Given the description of an element on the screen output the (x, y) to click on. 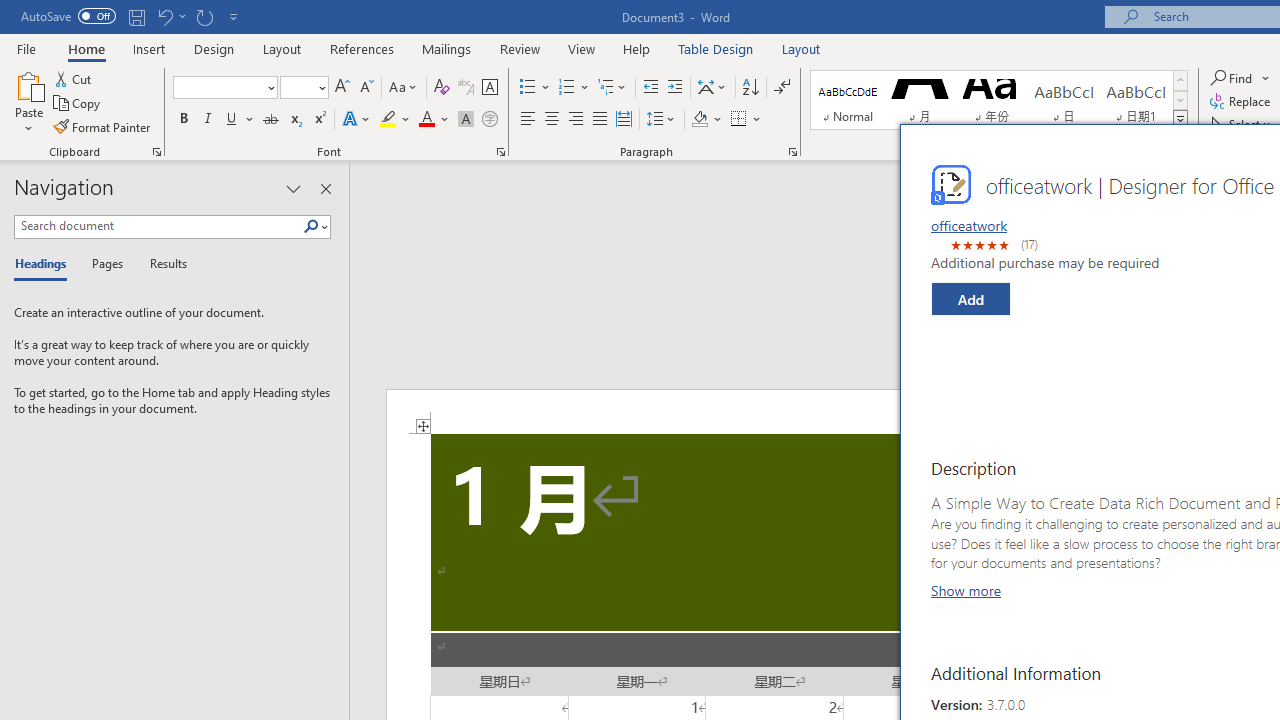
officeatwork | Designer for Office icon (950, 184)
